Given the description of an element on the screen output the (x, y) to click on. 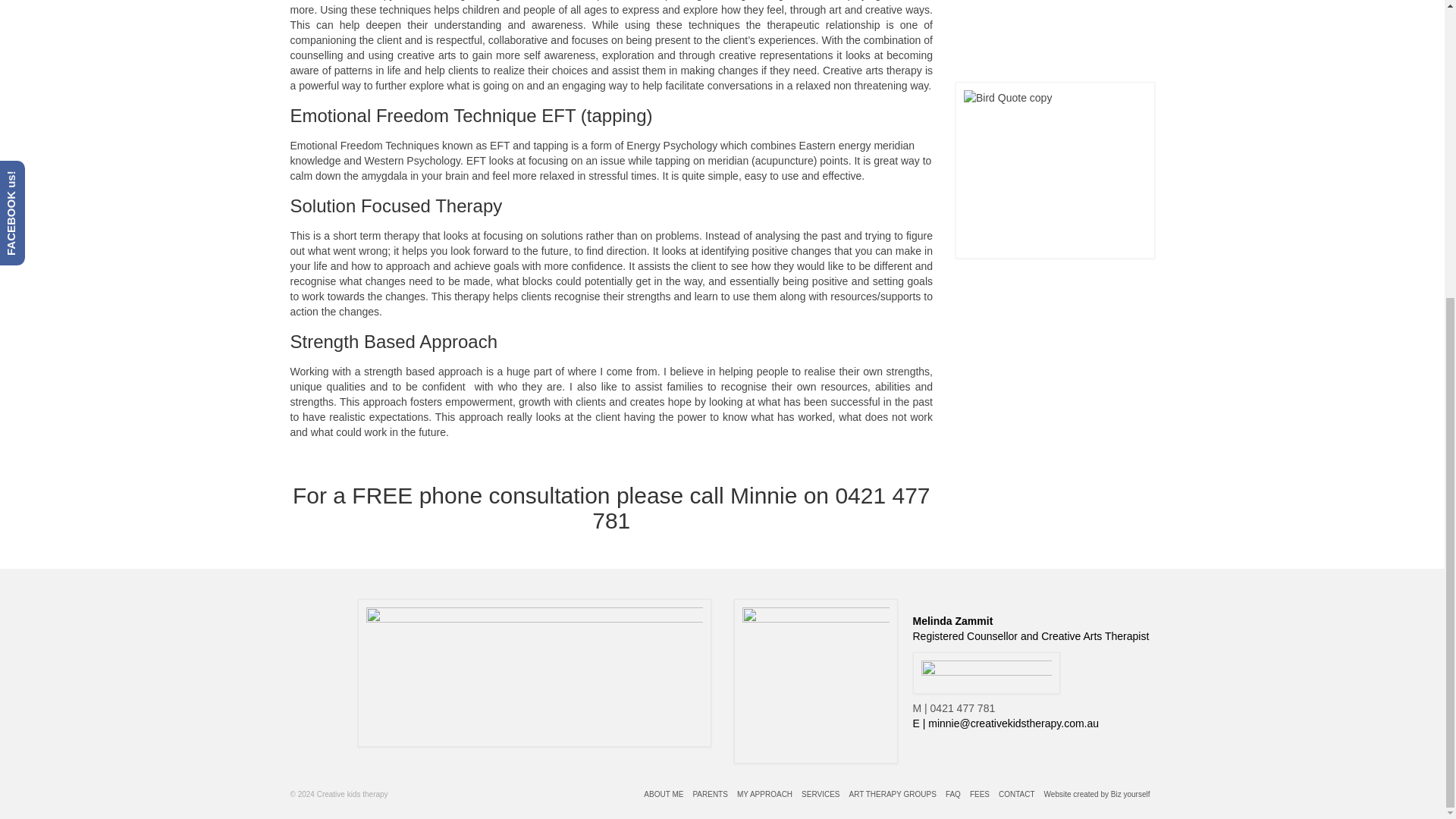
CONTACT (1016, 794)
Website created by Biz yourself (1096, 794)
ART THERAPY GROUPS (892, 794)
SERVICES (820, 794)
FEES (979, 794)
ABOUT ME (663, 794)
FAQ (952, 794)
PARENTS (709, 794)
MY APPROACH (764, 794)
